Given the description of an element on the screen output the (x, y) to click on. 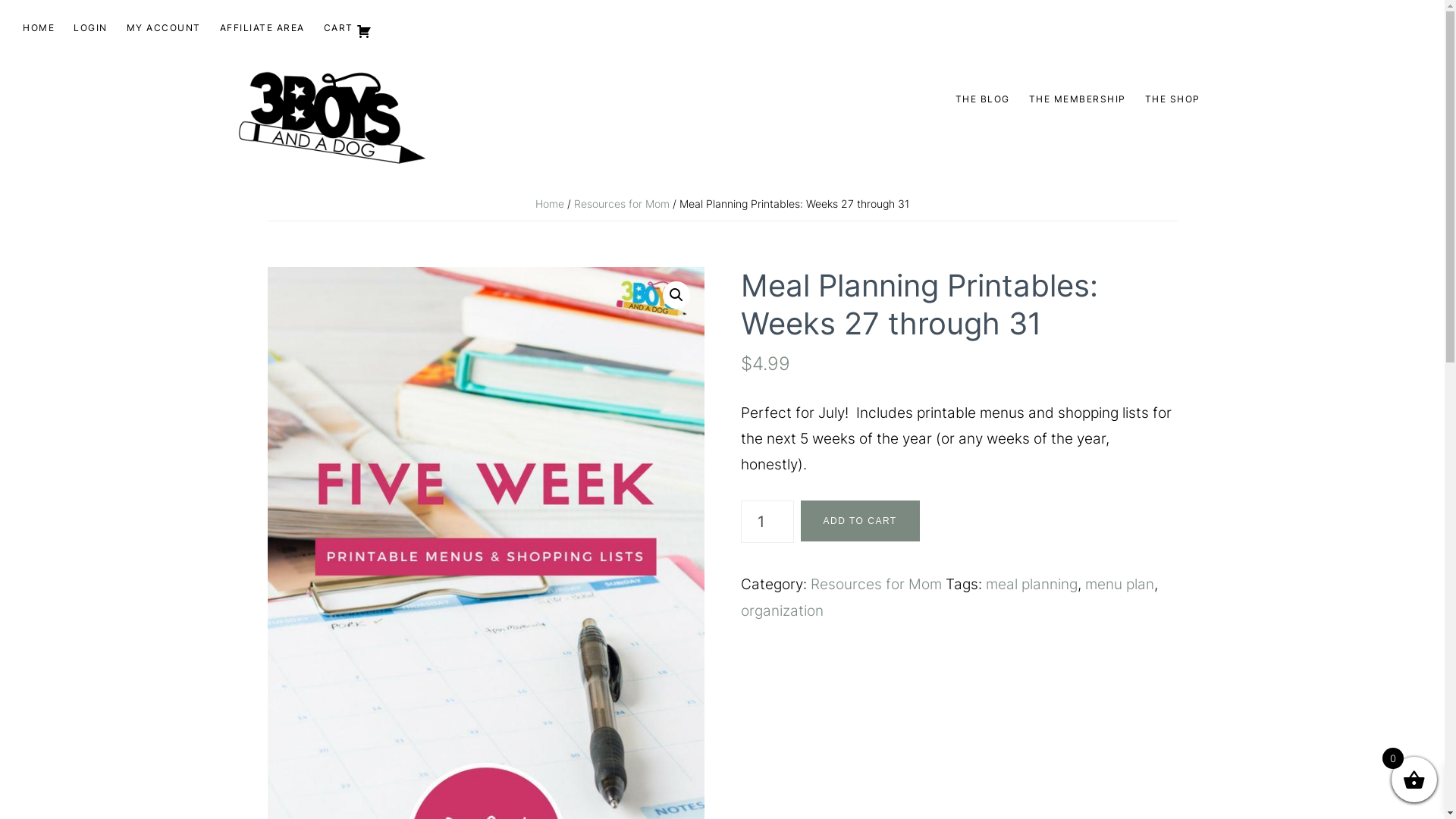
AFFILIATE AREA Element type: text (262, 28)
Resources for Mom Element type: text (621, 203)
CART Element type: text (347, 31)
menu plan Element type: text (1118, 584)
meal planning Element type: text (1031, 584)
HOME Element type: text (38, 28)
organization Element type: text (781, 610)
LOGIN Element type: text (90, 28)
THE SHOP Element type: text (1172, 99)
Resources for Mom Element type: text (875, 584)
Skip to primary navigation Element type: text (0, 0)
THE BLOG Element type: text (982, 99)
Home Element type: text (549, 203)
THE MEMBERSHIP Element type: text (1076, 99)
ADD TO CART Element type: text (859, 520)
MY ACCOUNT Element type: text (162, 28)
